Given the description of an element on the screen output the (x, y) to click on. 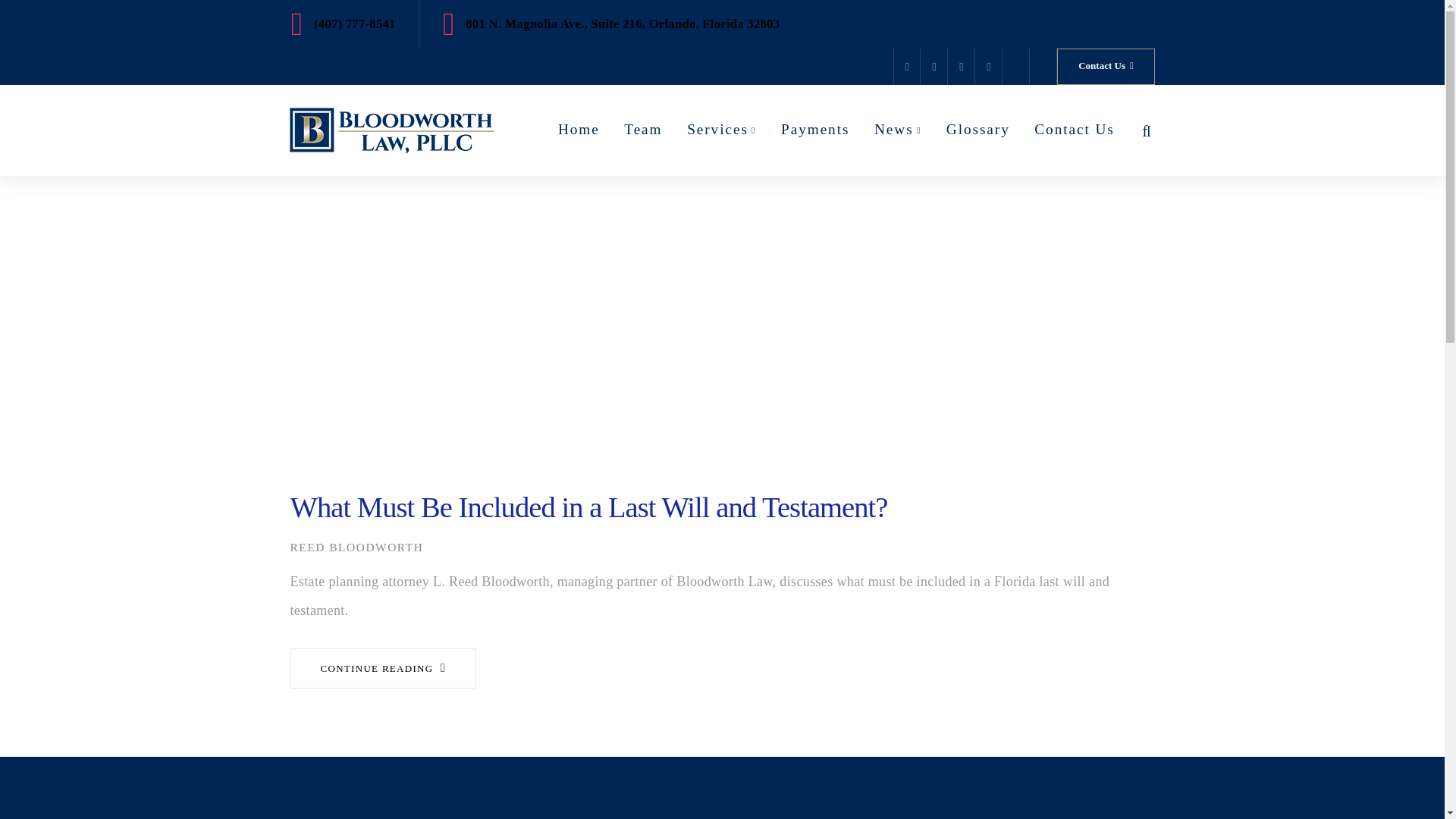
Glossary (978, 129)
Contact Us (1105, 66)
News (898, 129)
Services (721, 129)
Payments (814, 129)
Home (578, 129)
